Given the description of an element on the screen output the (x, y) to click on. 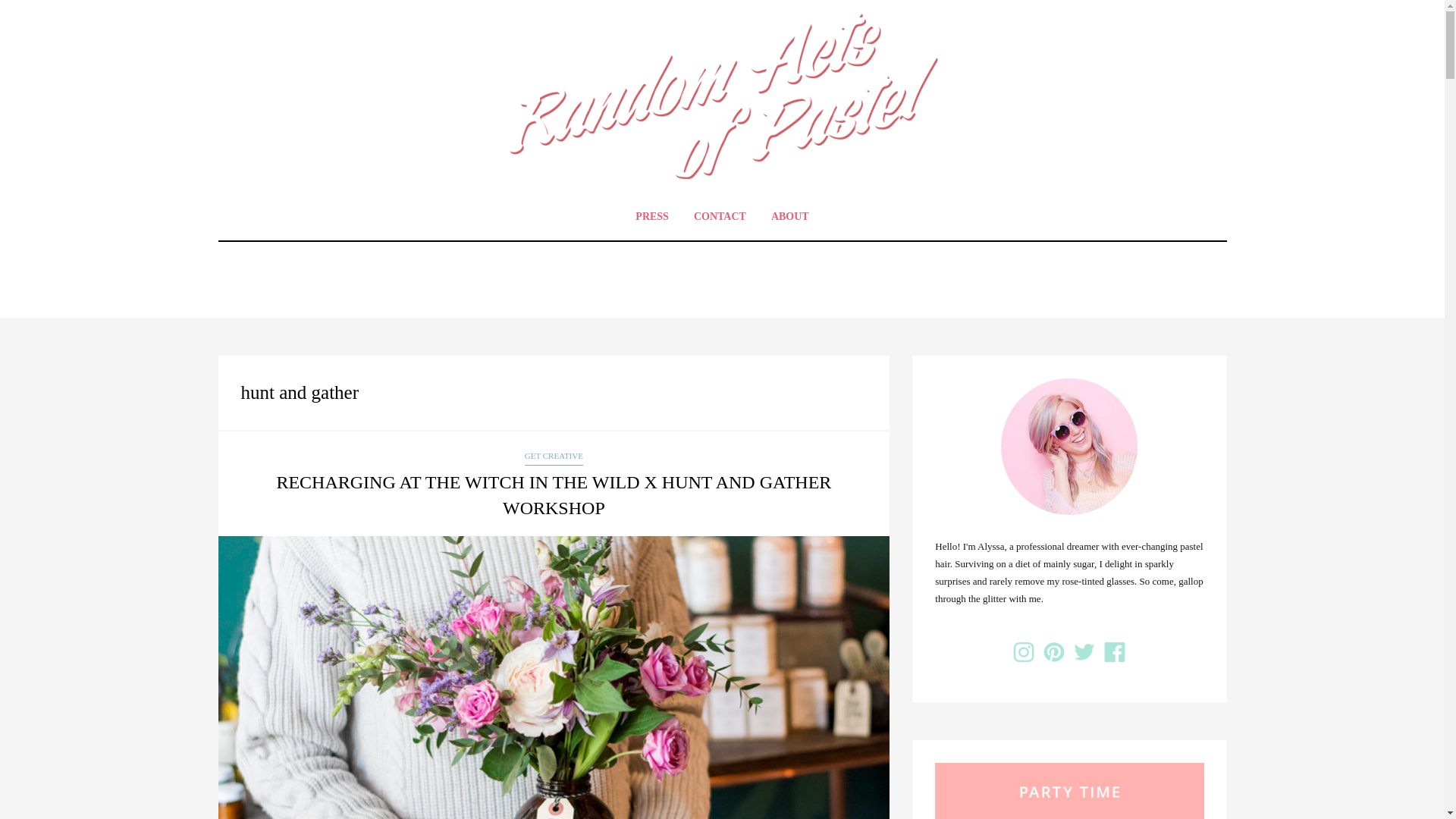
GET CREATIVE (553, 456)
ABOUT (790, 216)
PRESS (651, 216)
CONTACT (719, 216)
